Given the description of an element on the screen output the (x, y) to click on. 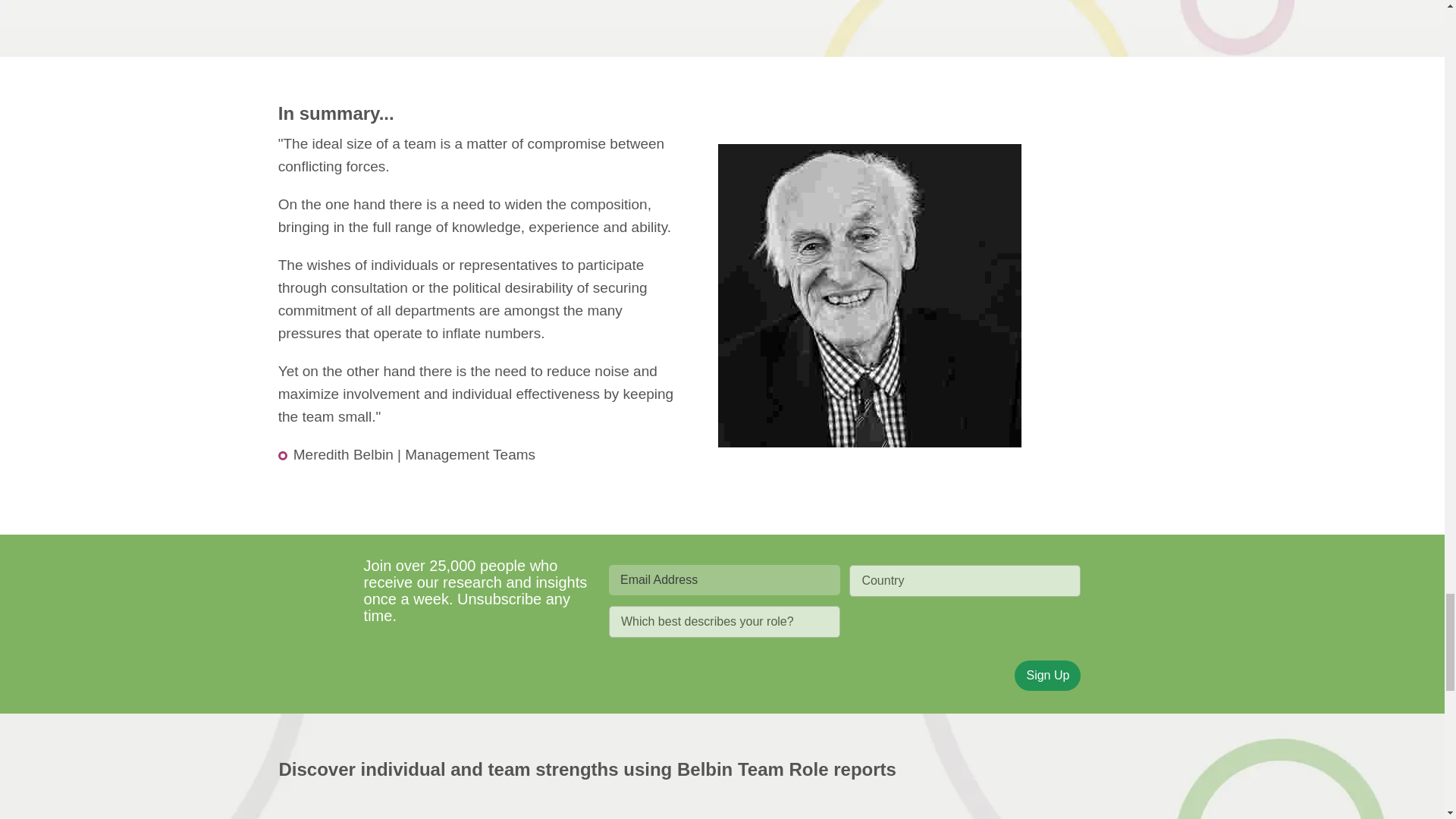
Sign Up (1047, 675)
